Given the description of an element on the screen output the (x, y) to click on. 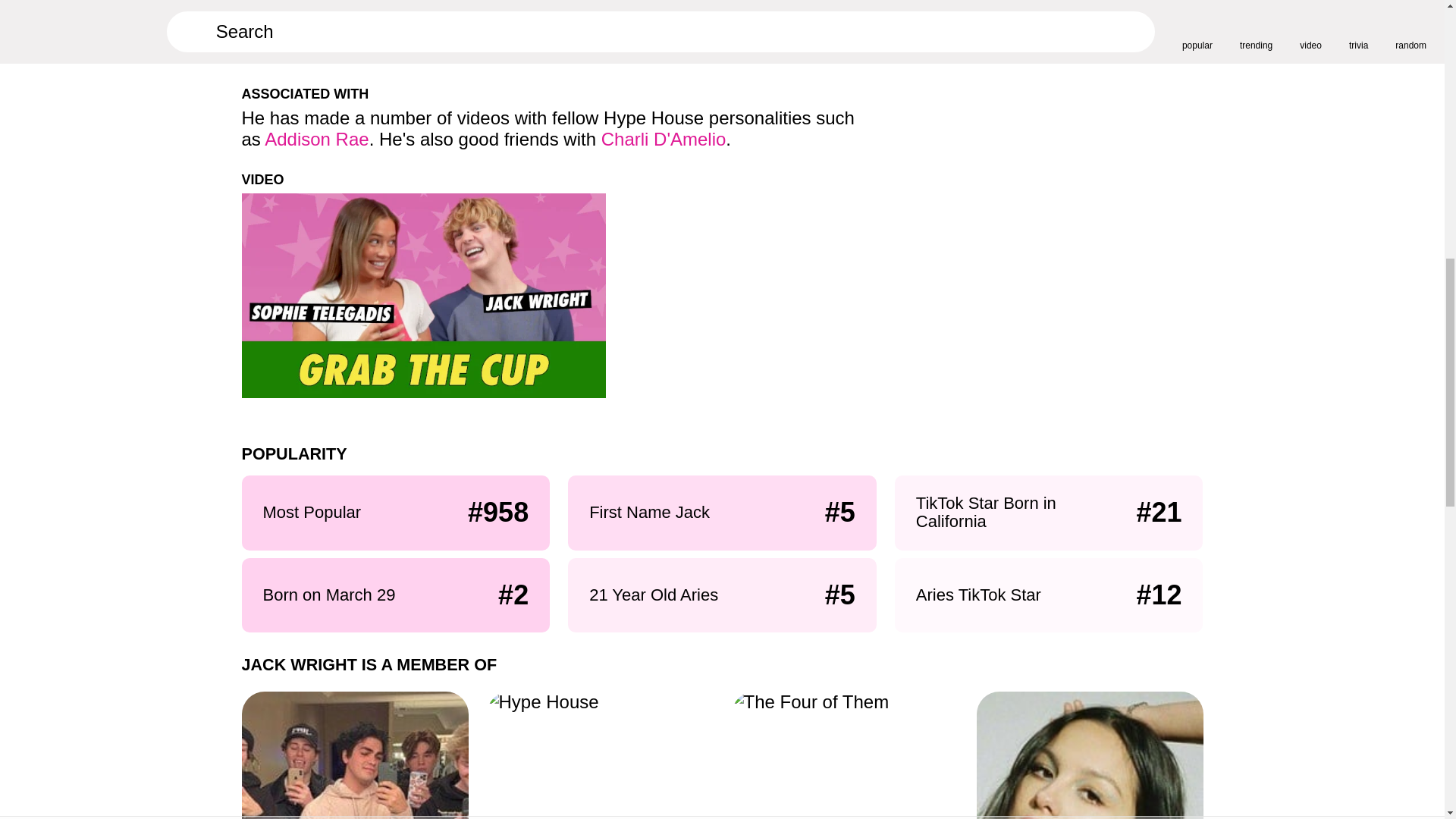
Charli D'Amelio (663, 138)
The Four of Them (844, 755)
Hype House (599, 755)
21 Year Olds (1090, 755)
James Wright (494, 31)
Hype House (354, 755)
Addison Rae (316, 138)
